Given the description of an element on the screen output the (x, y) to click on. 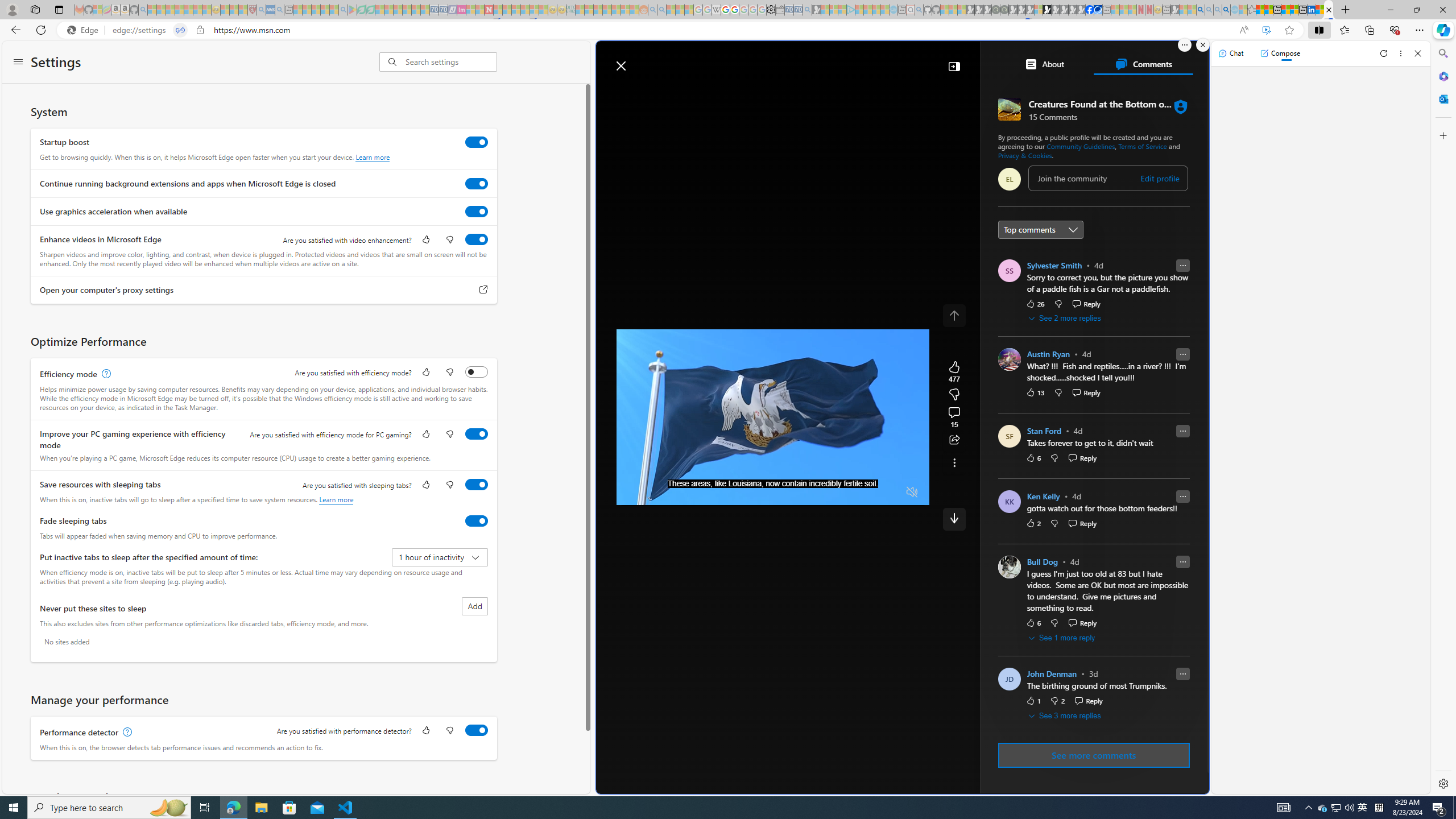
Expert Portfolios - Sleeping (606, 9)
View comments 15 Comment (954, 417)
Profile Picture (1008, 567)
Class: at-item detail-page (954, 462)
Aberdeen, Hong Kong SAR weather forecast | Microsoft Weather (1268, 9)
